Given the description of an element on the screen output the (x, y) to click on. 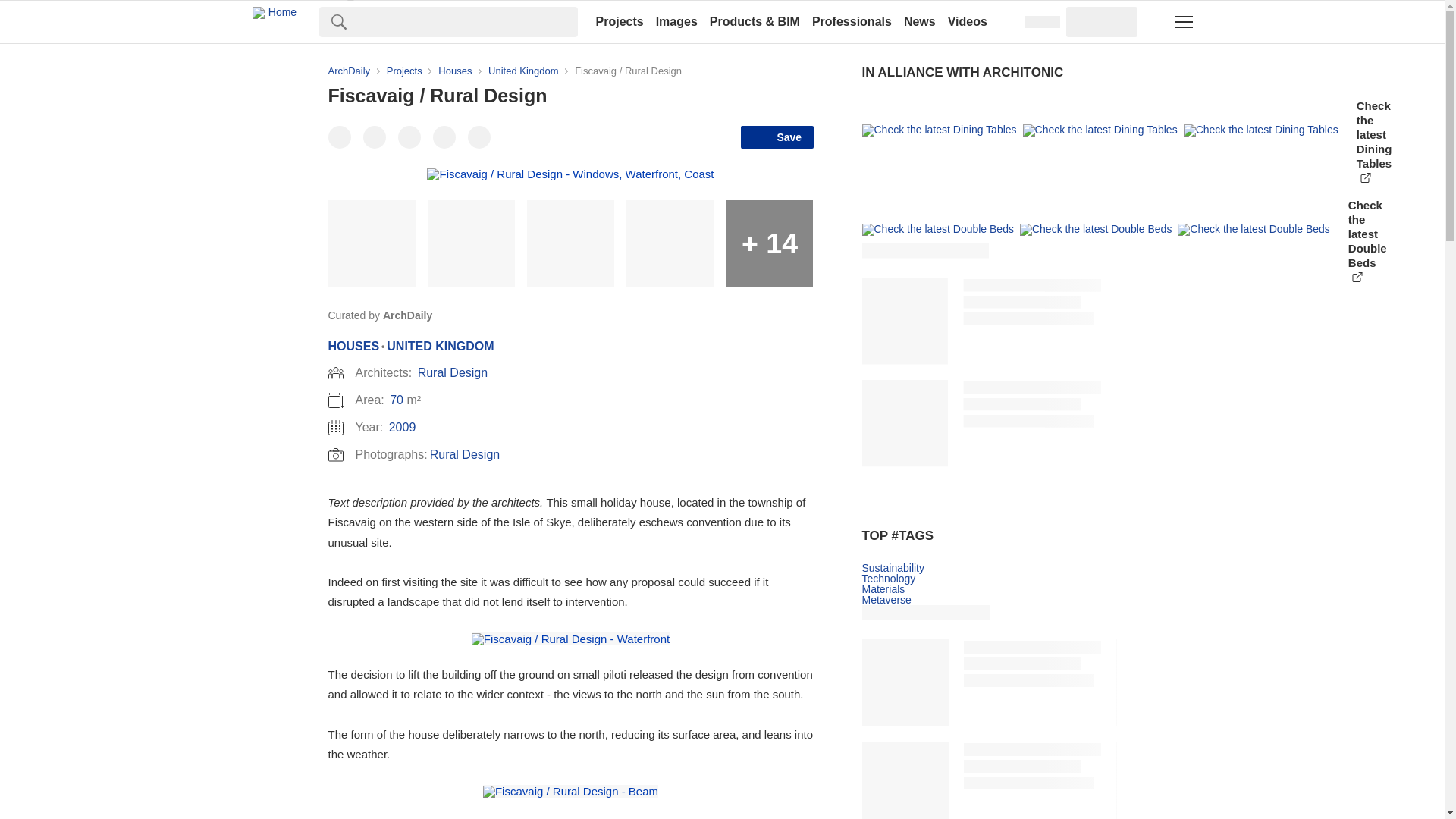
Professionals (852, 21)
News (920, 21)
Videos (967, 21)
Images (676, 21)
Projects (619, 21)
